Given the description of an element on the screen output the (x, y) to click on. 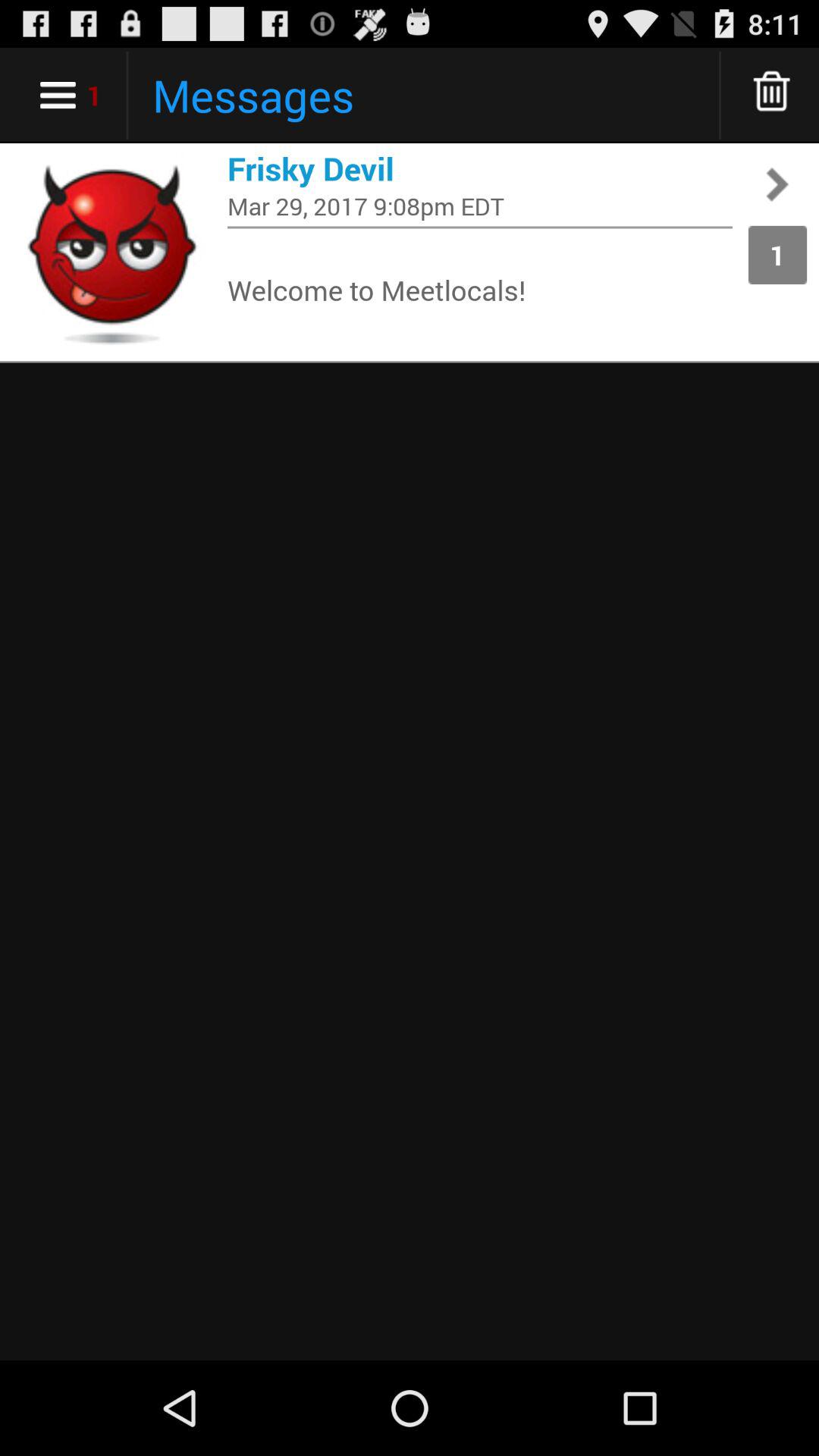
delete message s (772, 95)
